Given the description of an element on the screen output the (x, y) to click on. 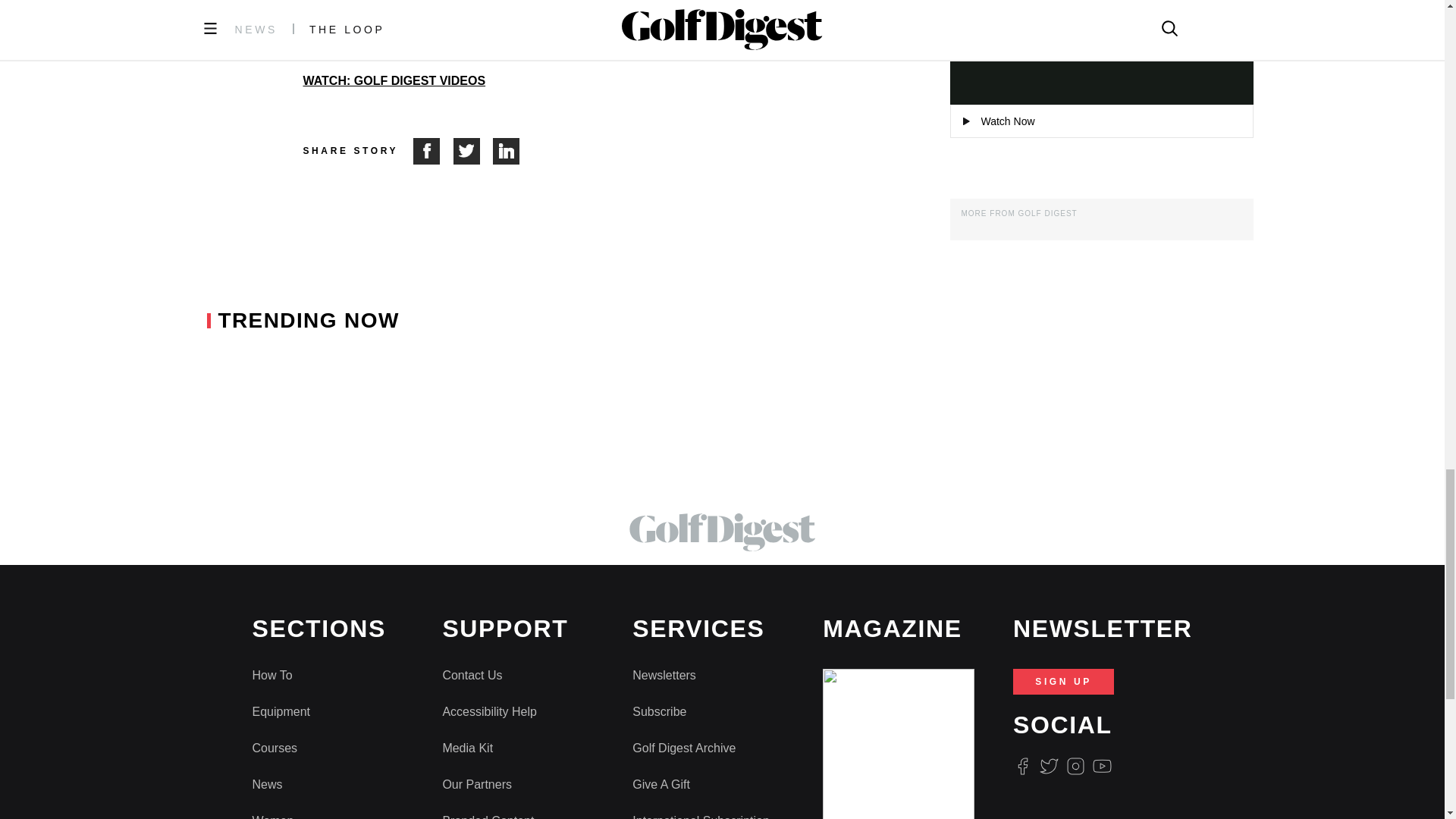
Youtube Icon (1102, 765)
Share on Facebook (432, 151)
Twitter Logo (1048, 765)
Instagram Logo (1074, 765)
Share on Twitter (472, 151)
Facebook Logo (1022, 765)
Share on LinkedIn (506, 151)
